Given the description of an element on the screen output the (x, y) to click on. 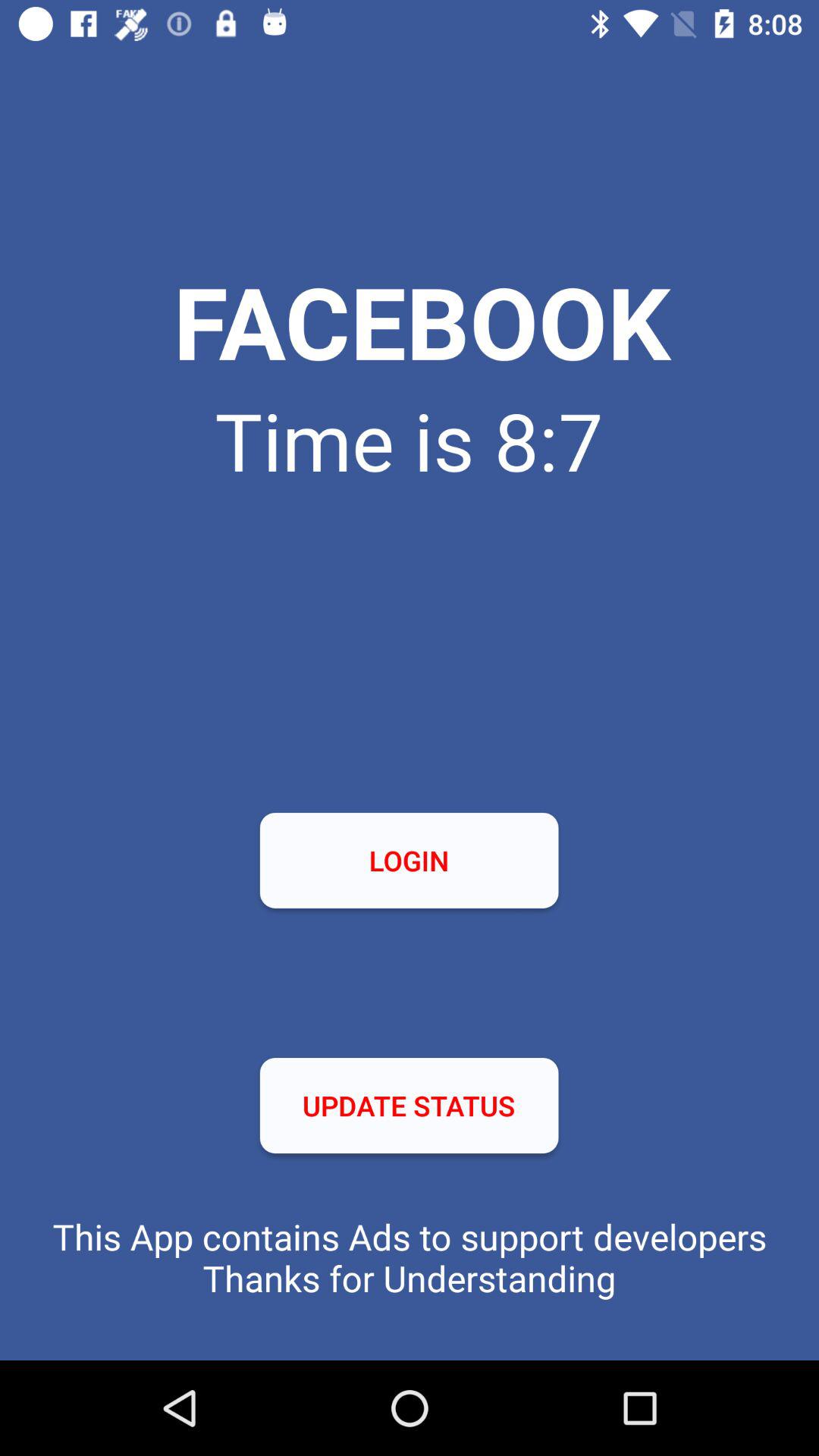
scroll to login item (408, 860)
